Given the description of an element on the screen output the (x, y) to click on. 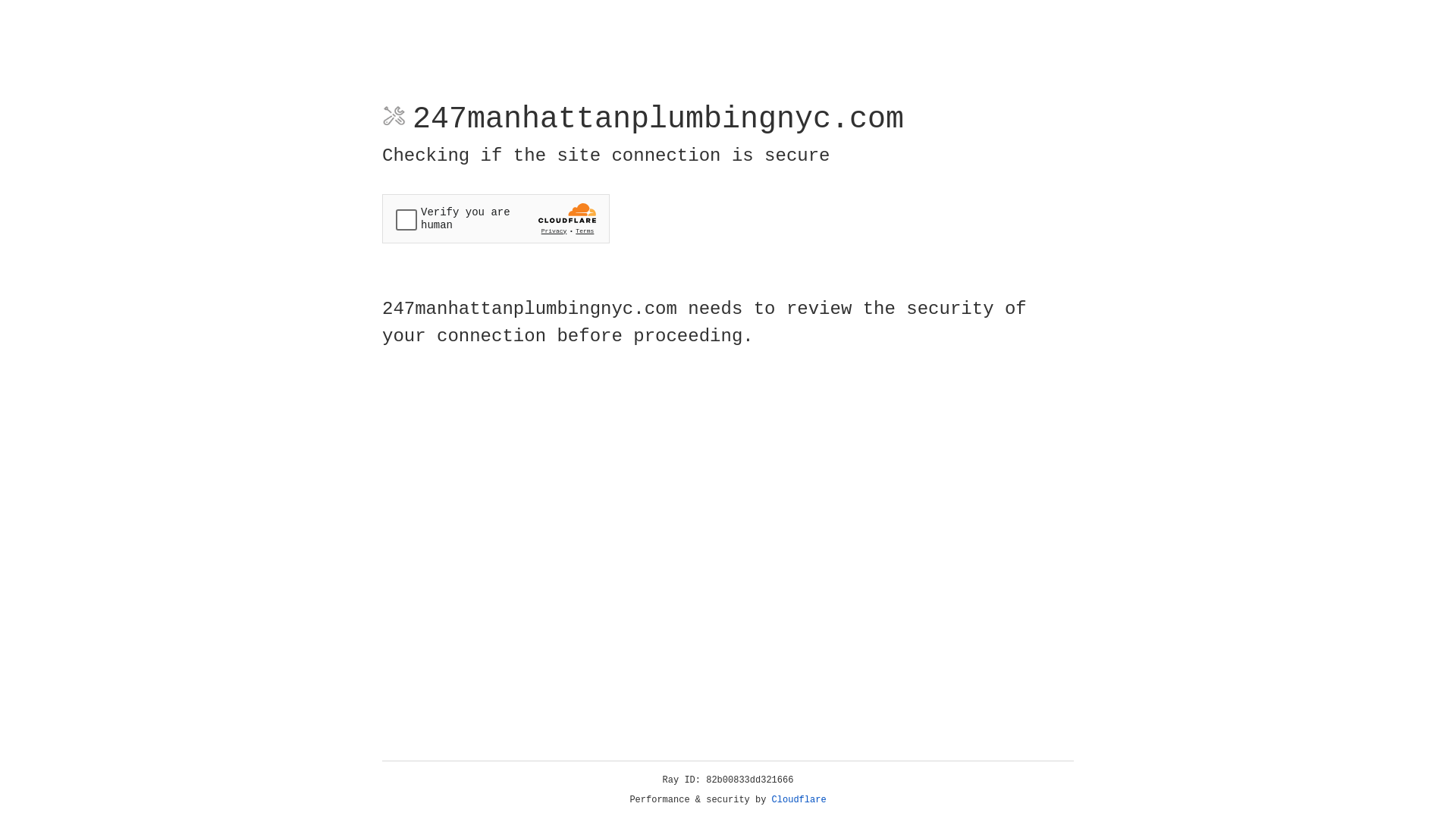
Widget containing a Cloudflare security challenge Element type: hover (495, 218)
Cloudflare Element type: text (798, 799)
